Given the description of an element on the screen output the (x, y) to click on. 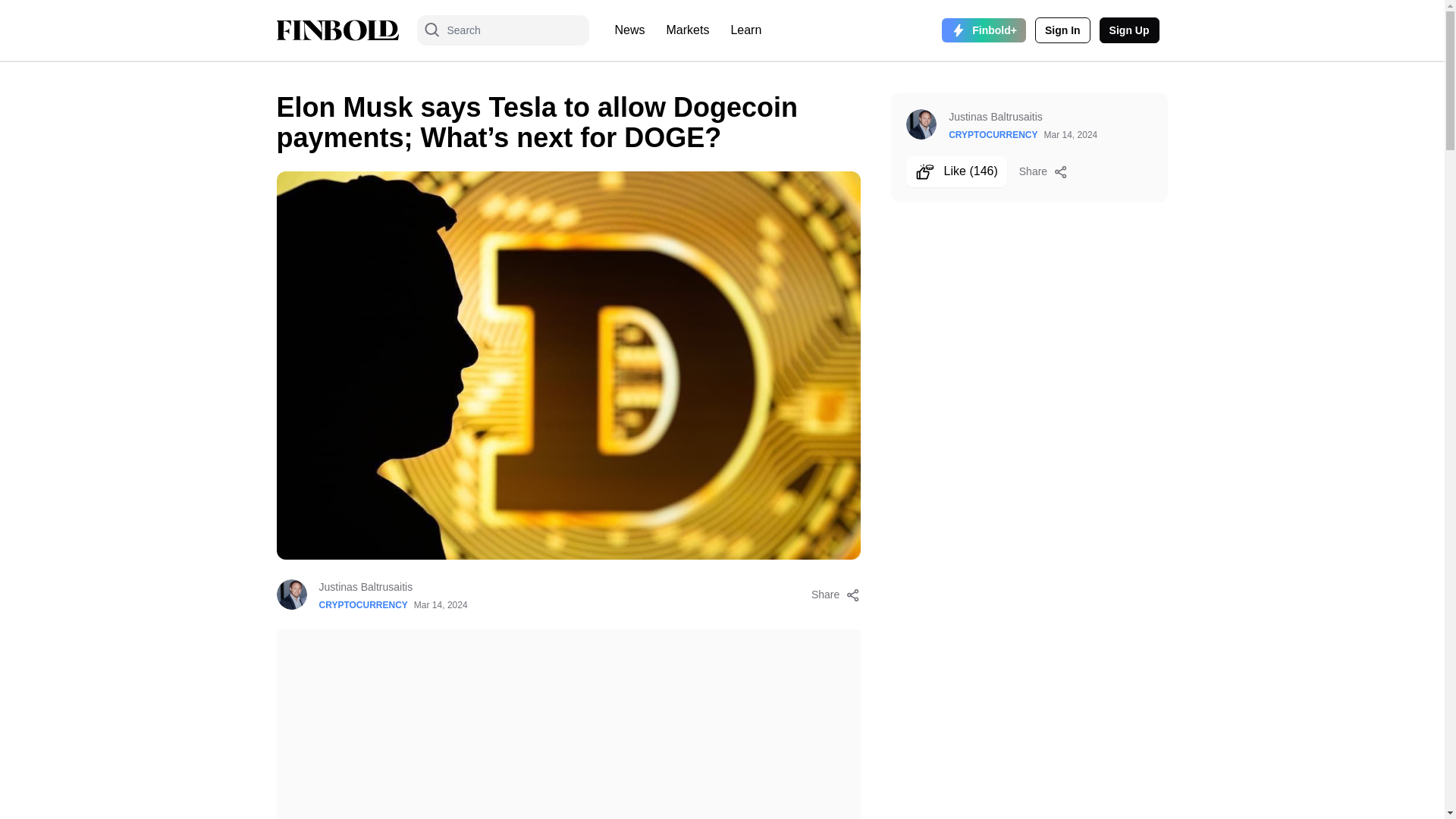
Account (1128, 30)
Markets (688, 29)
Learn (745, 29)
Sign In (1062, 30)
Advertisement (568, 724)
CRYPTOCURRENCY (362, 604)
News (629, 29)
Justinas Baltrusaitis (392, 587)
Finbold (336, 29)
Account (1062, 30)
